Given the description of an element on the screen output the (x, y) to click on. 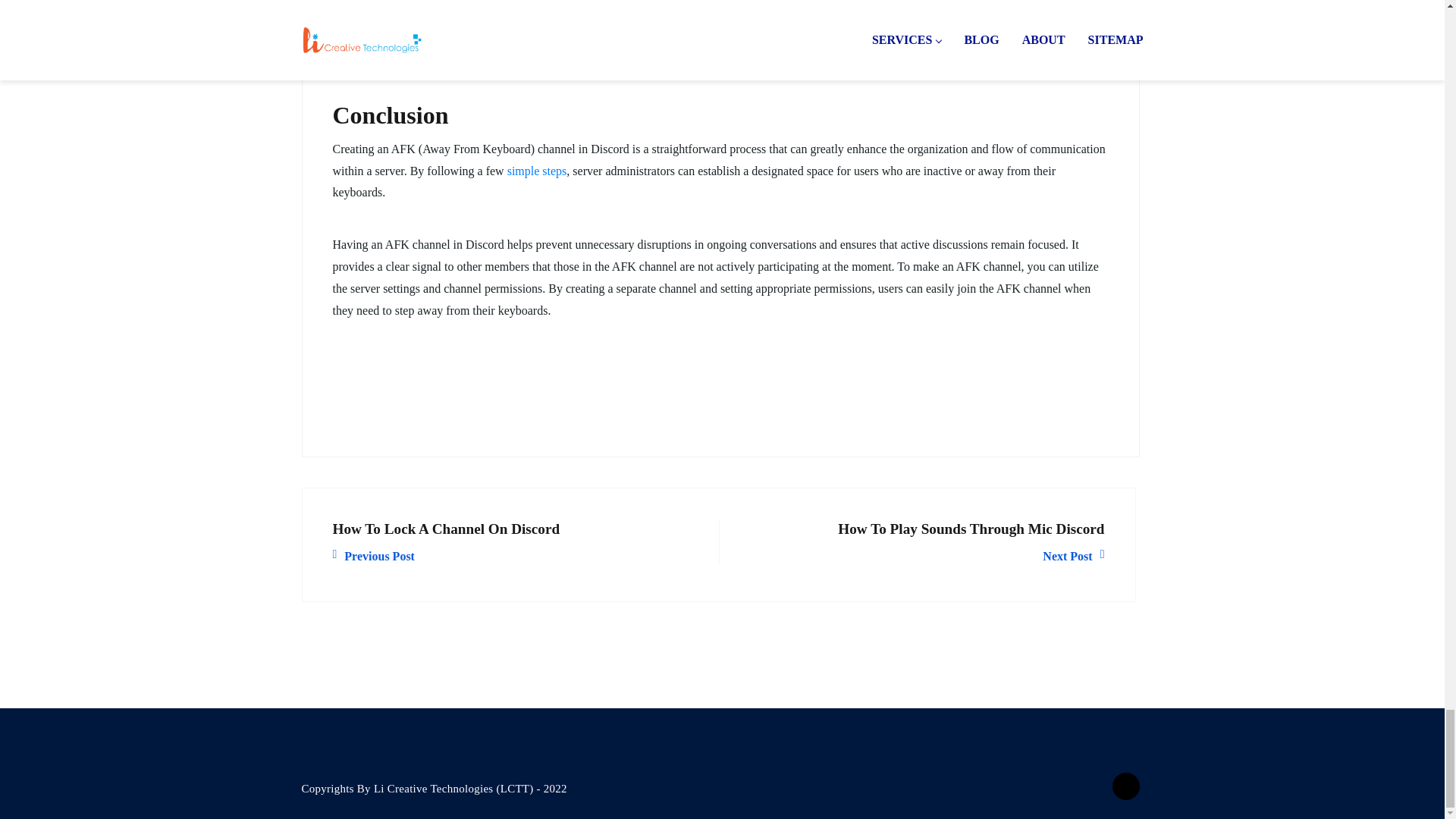
simple steps (536, 170)
